Given the description of an element on the screen output the (x, y) to click on. 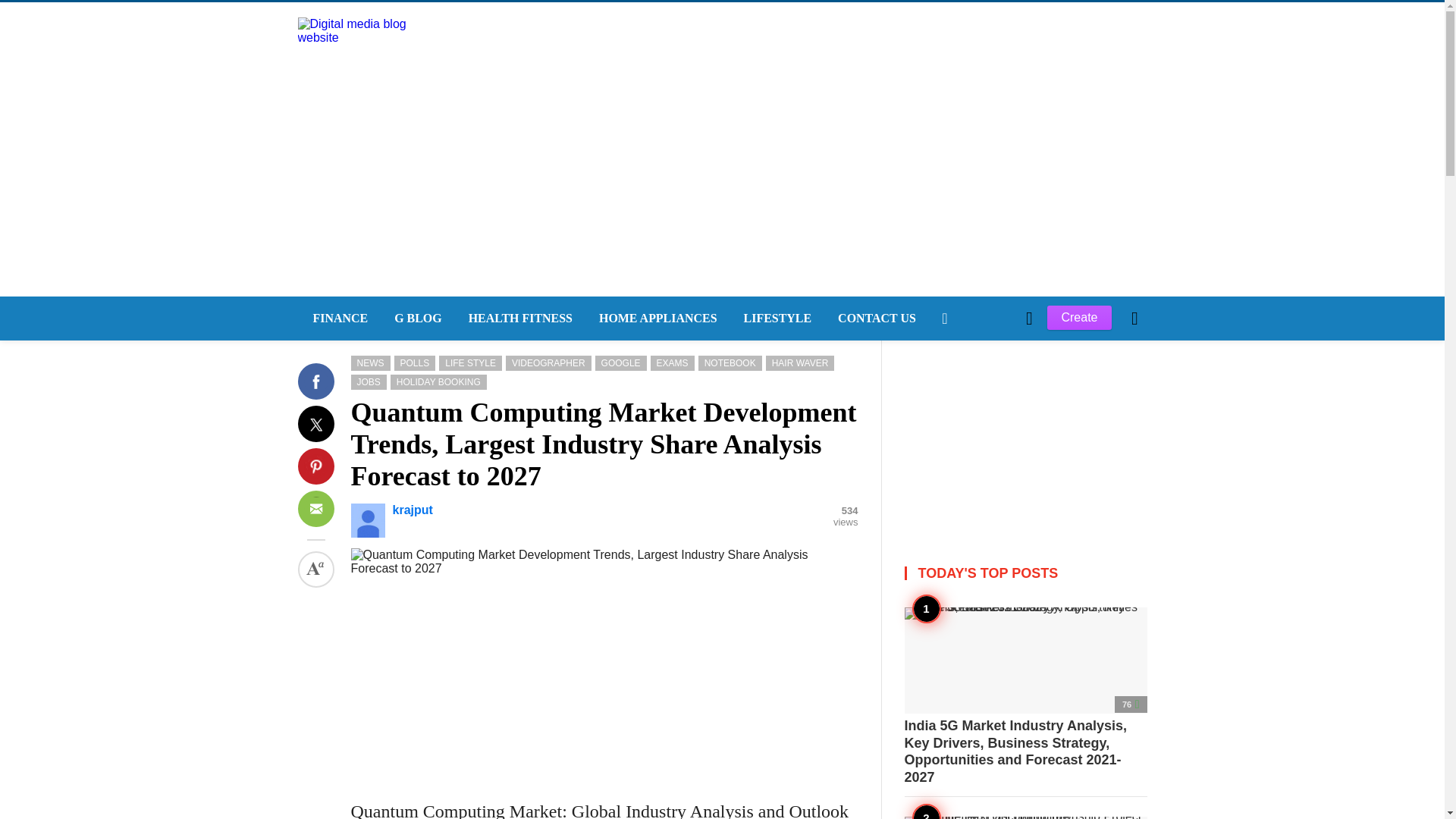
sign up (964, 575)
Log in (962, 575)
Advertisement (1025, 434)
CONTACT US (874, 318)
FINANCE (337, 318)
HEALTH FITNESS (517, 318)
LIFESTYLE (776, 318)
G BLOG (415, 318)
